Given the description of an element on the screen output the (x, y) to click on. 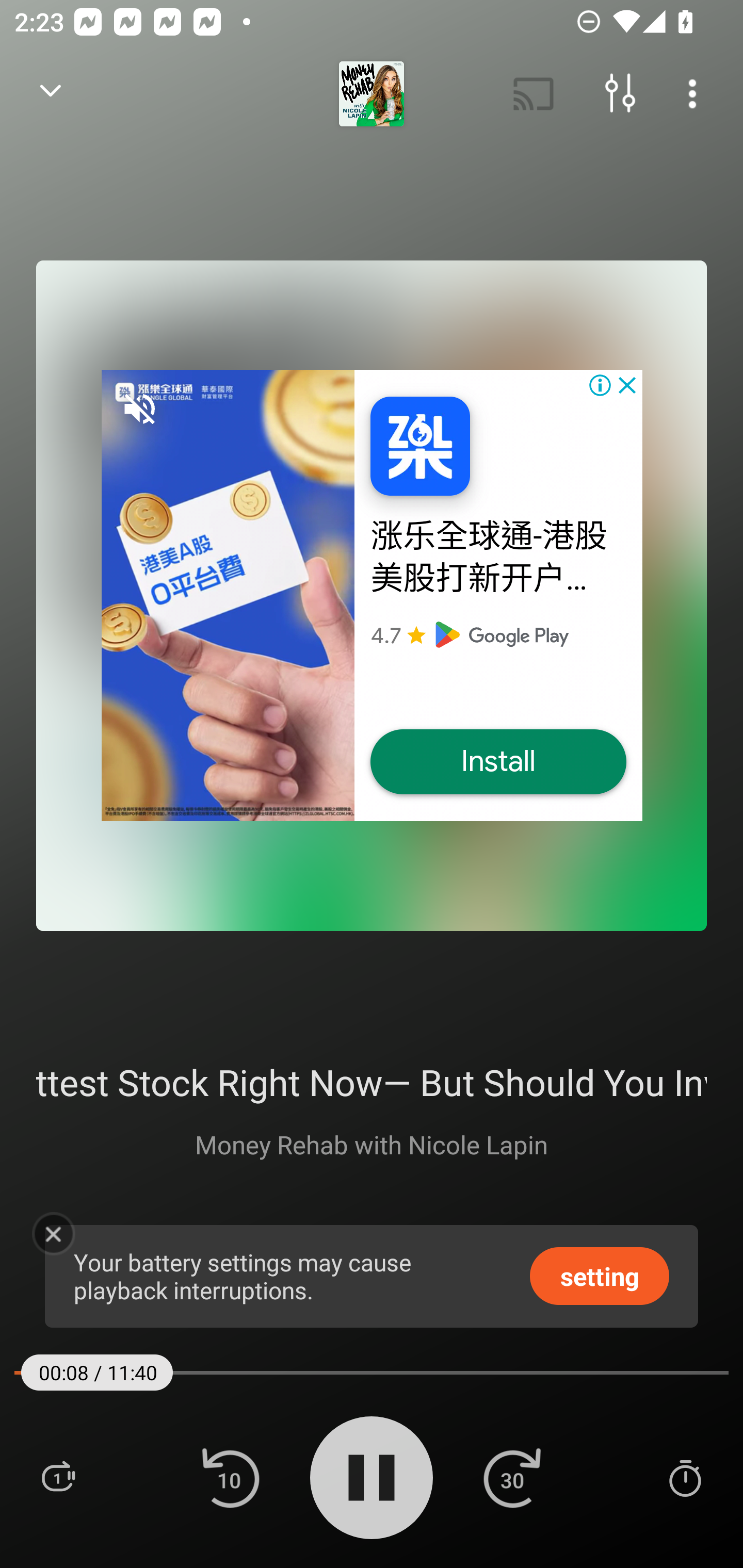
Cast. Disconnected (533, 93)
 Back (50, 94)
涨乐全球通-港股
美股打新开户… 4.7 Install Install (371, 595)
Install (498, 762)
Money Rehab with Nicole Lapin (371, 1144)
setting (599, 1275)
 Playlist (57, 1477)
Sleep Timer  (684, 1477)
